Given the description of an element on the screen output the (x, y) to click on. 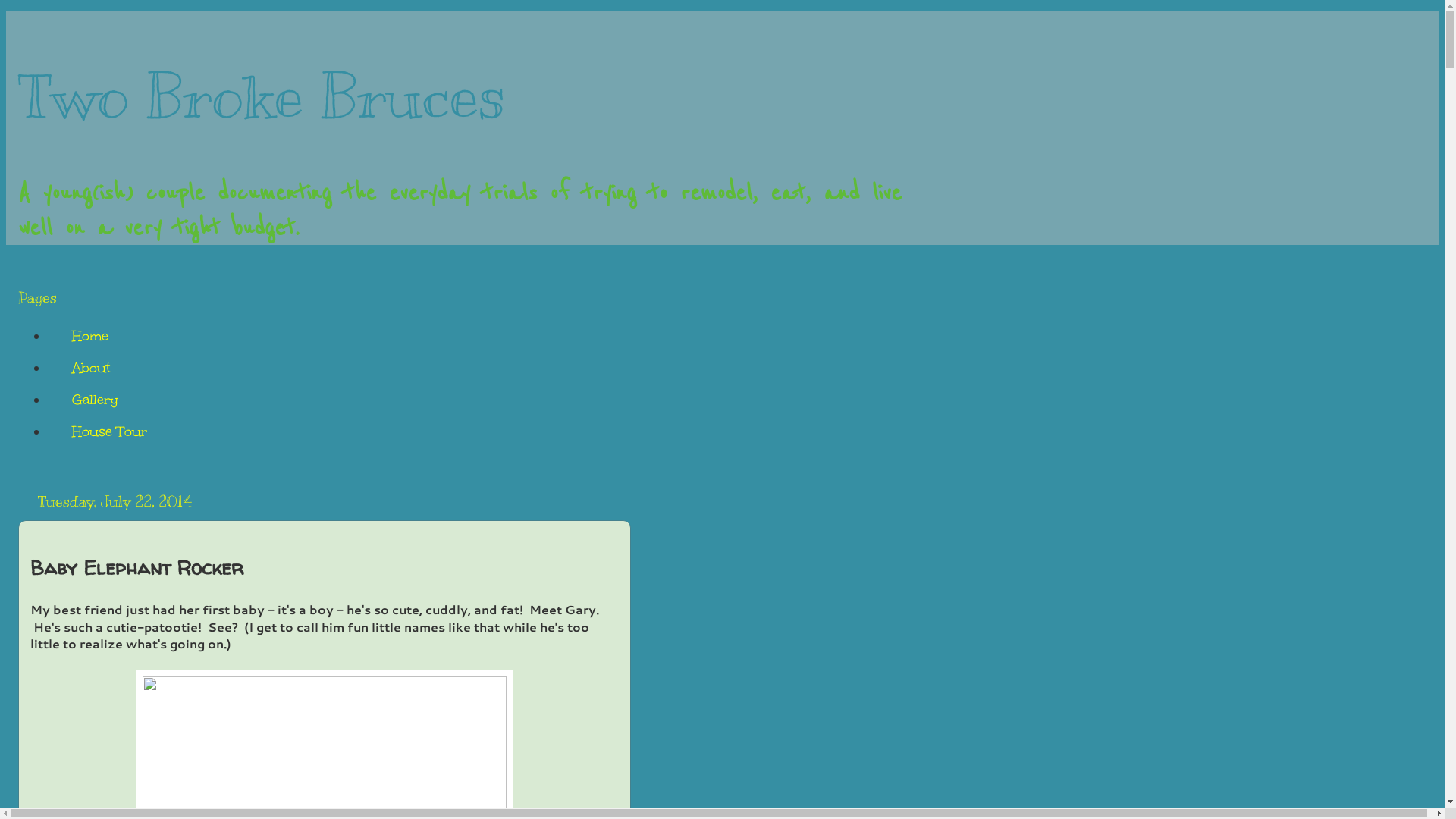
House Tour Element type: text (109, 431)
Gallery Element type: text (94, 399)
Two Broke Bruces Element type: text (261, 96)
About Element type: text (90, 367)
Home Element type: text (89, 335)
